Given the description of an element on the screen output the (x, y) to click on. 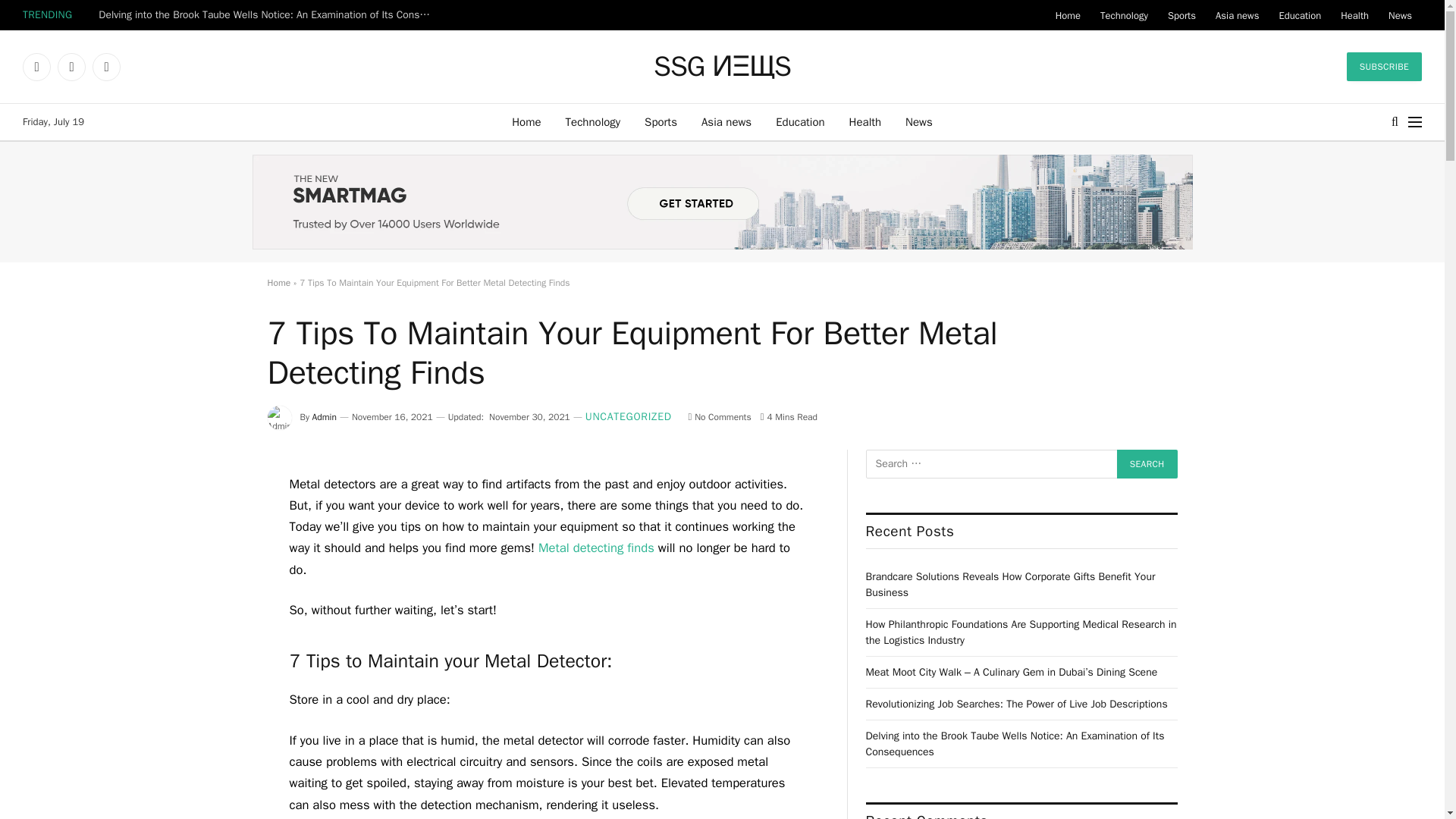
Search (1146, 463)
Sports (659, 122)
Asia news (1236, 15)
Health (865, 122)
Education (1299, 15)
Sports (1181, 15)
Posts by Admin (324, 417)
Facebook (36, 67)
Search (1146, 463)
Home (526, 122)
News (918, 122)
Technology (1123, 15)
Technology (593, 122)
News (1400, 15)
